Given the description of an element on the screen output the (x, y) to click on. 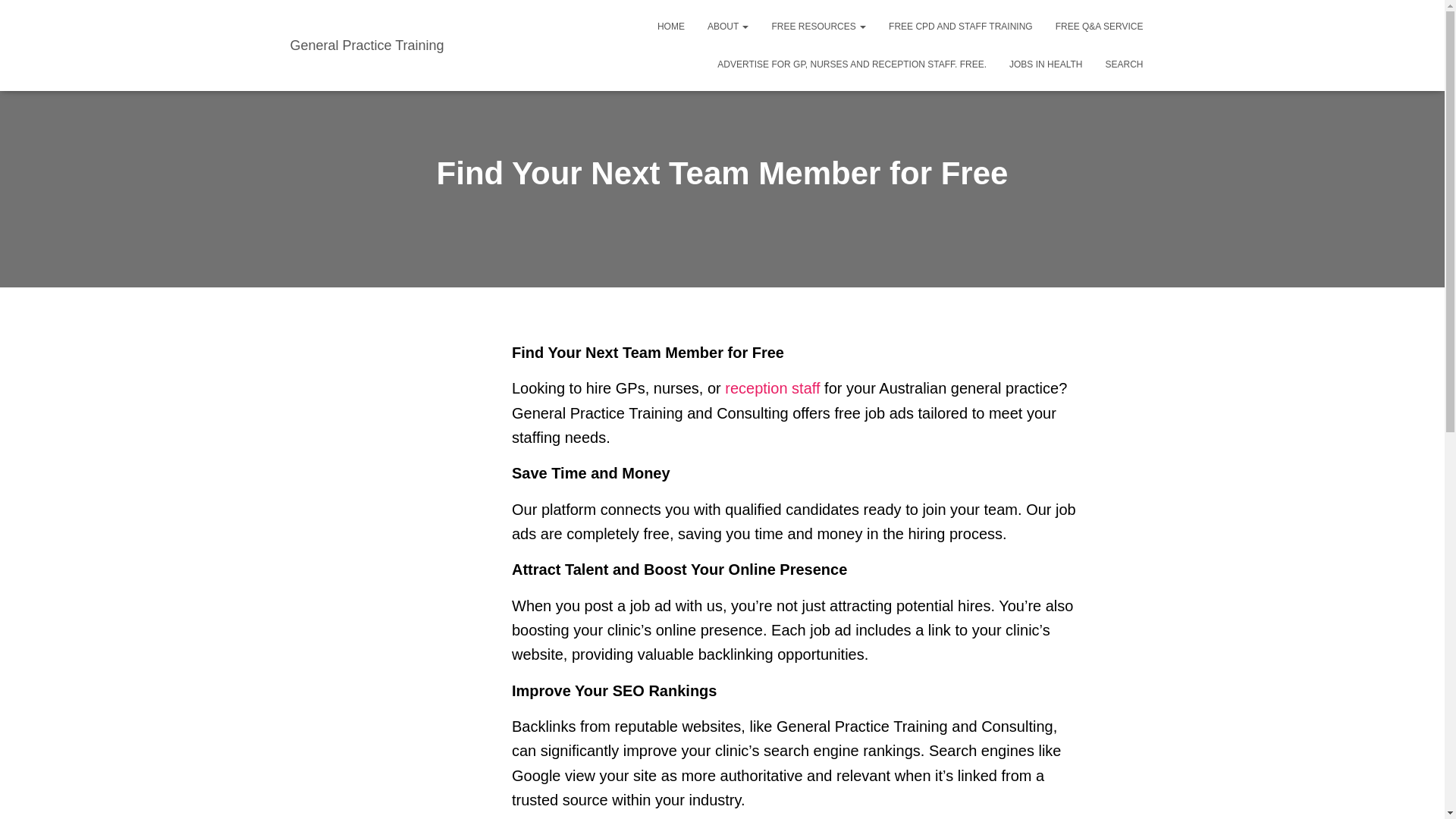
JOBS IN HEALTH (1045, 64)
Home (670, 26)
reception staff (772, 388)
Free Resources (818, 26)
About (727, 26)
General Practice Training (367, 45)
ABOUT (727, 26)
FREE RESOURCES (818, 26)
SEARCH (1123, 64)
General Practice Training (367, 45)
ADVERTISE FOR GP, NURSES AND RECEPTION STAFF. FREE. (851, 64)
FREE CPD AND STAFF TRAINING (960, 26)
HOME (670, 26)
